Given the description of an element on the screen output the (x, y) to click on. 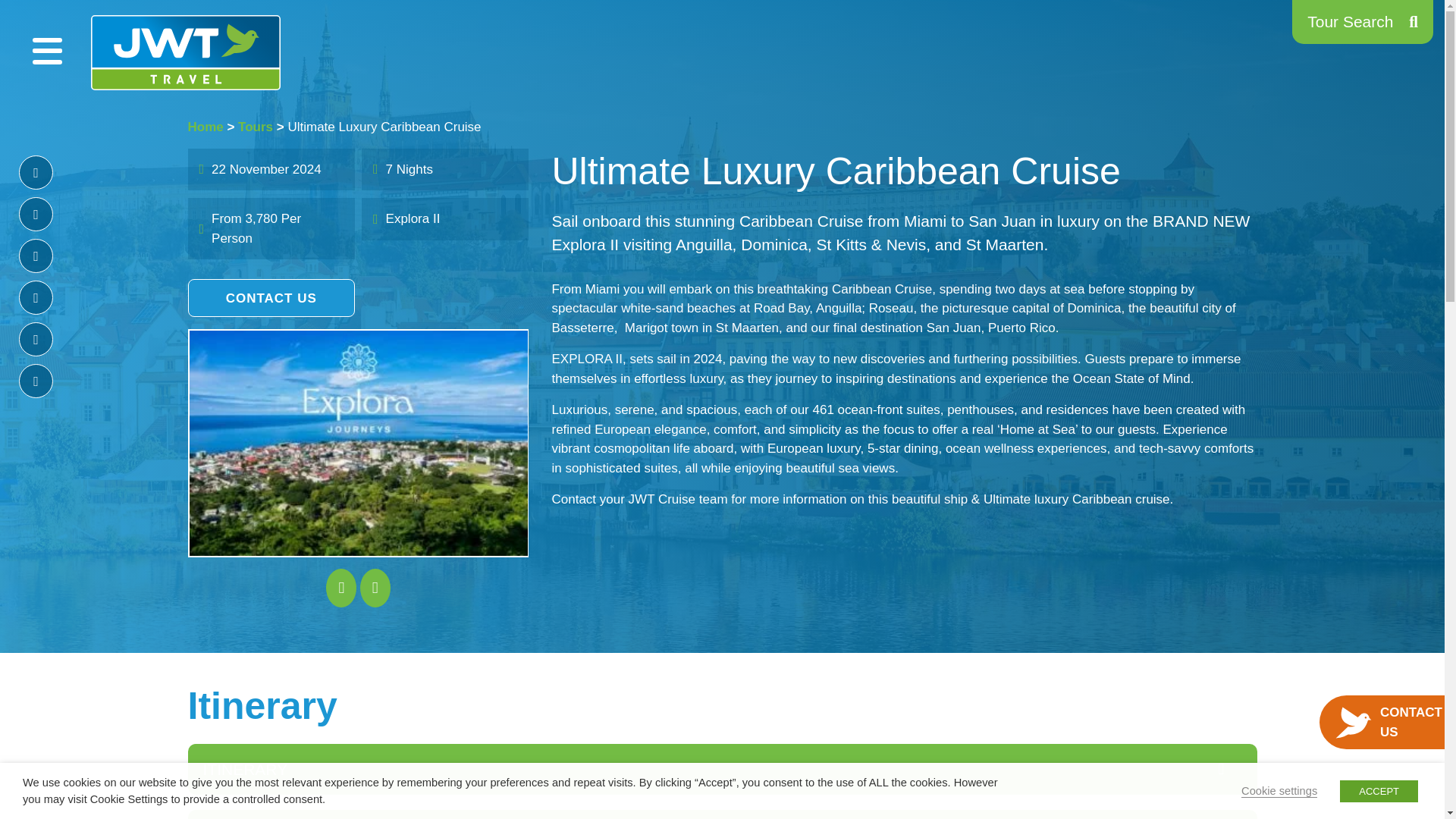
Tour Search (1362, 22)
Link to JWT Travel Instagram Page (35, 255)
Link to JWT Travel Facebook Page (35, 172)
Link to JWT Travel LinkedIn Page (35, 339)
JWT Travel logo (185, 52)
Link to JWT Travel Pinterest Page (35, 297)
Link to JWT Travel YouTube Page (35, 380)
Link to JWT Travel Twitter Page (35, 213)
